Given the description of an element on the screen output the (x, y) to click on. 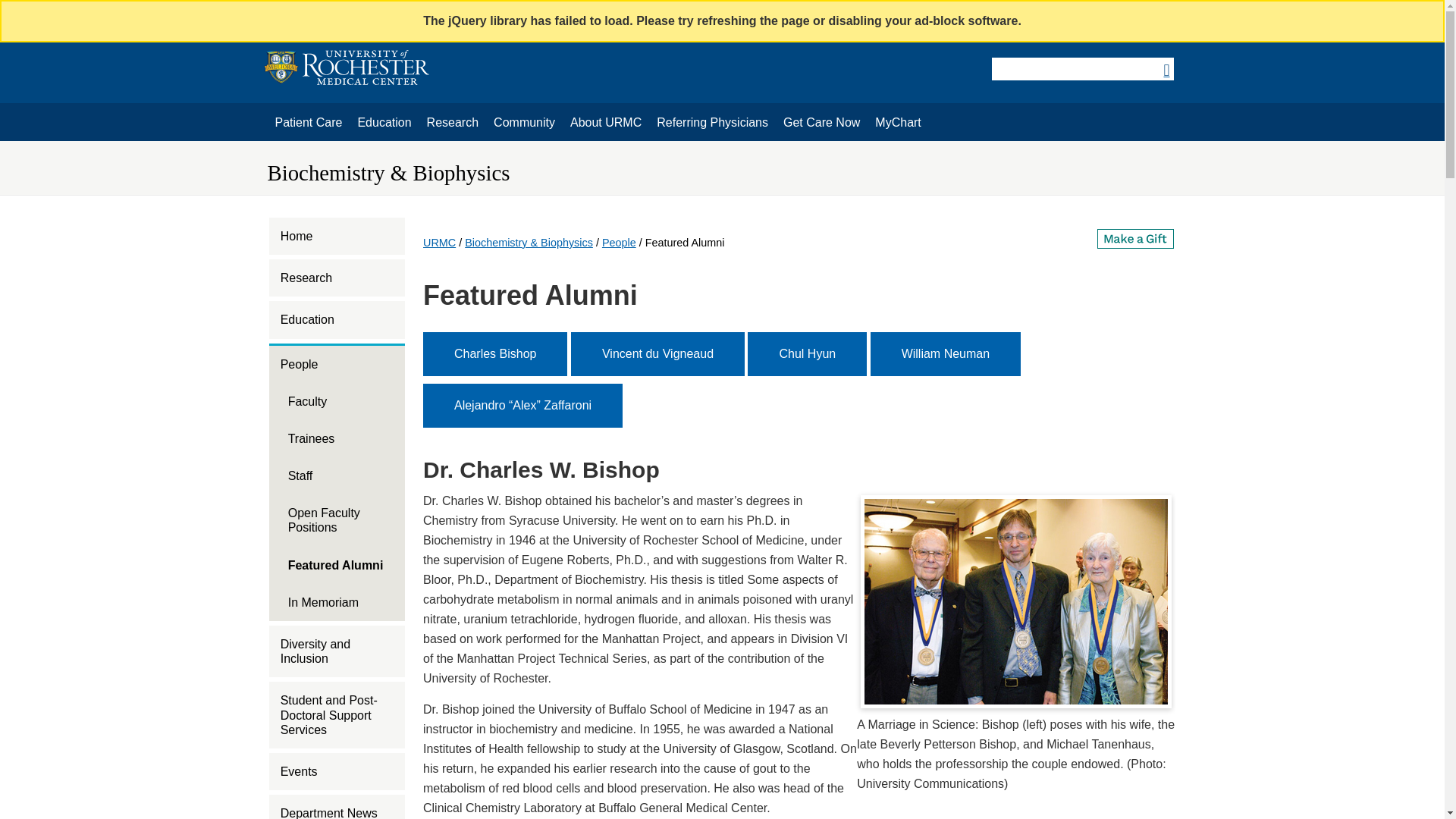
Research (336, 277)
Education (384, 122)
Search URMC (712, 122)
About URMC (452, 122)
Education (1080, 68)
Home (897, 122)
Patient Care (605, 122)
Get Care Now (336, 319)
Community (336, 235)
